Given the description of an element on the screen output the (x, y) to click on. 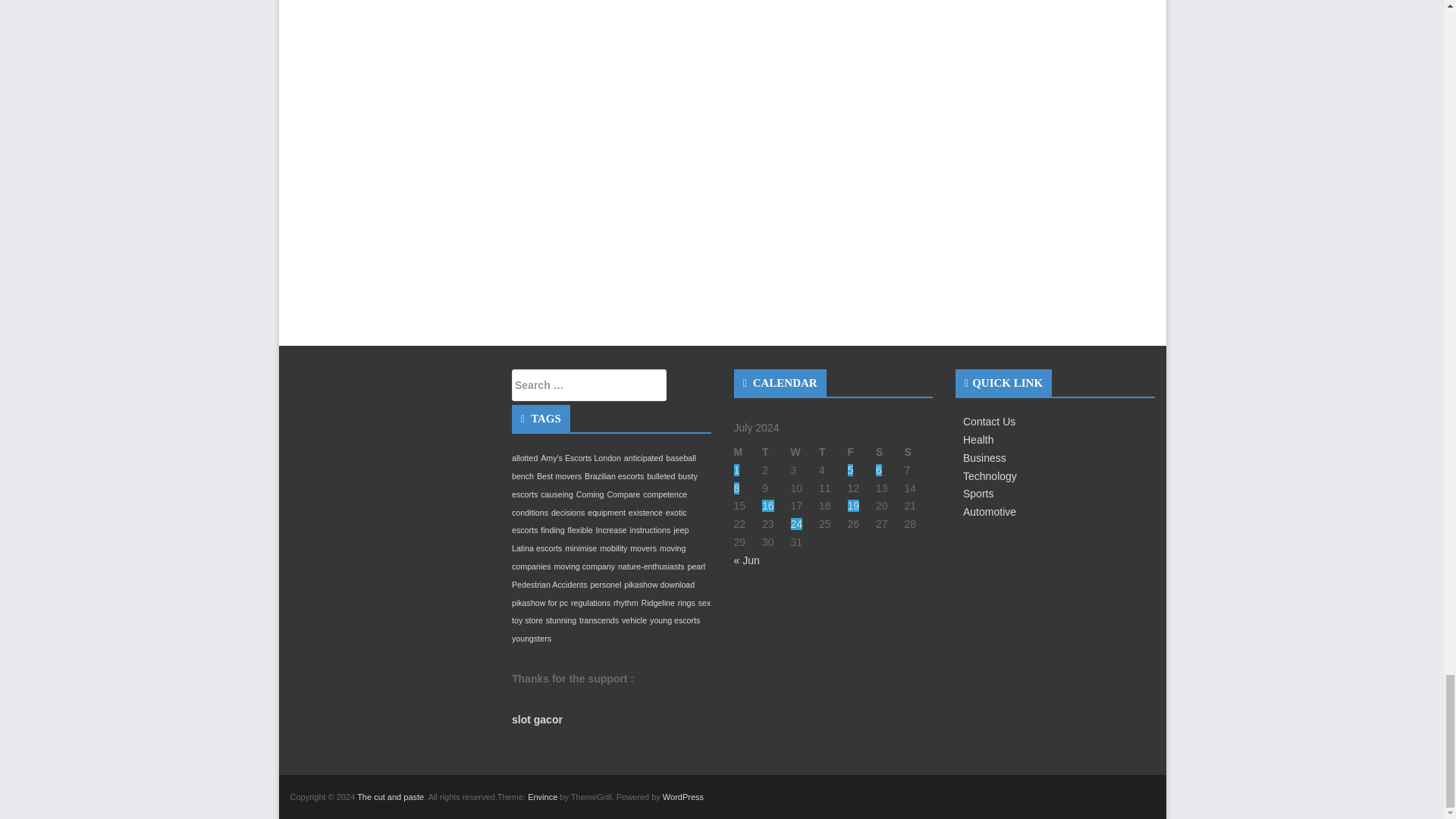
Sunday (918, 452)
Thursday (832, 452)
Saturday (890, 452)
Friday (861, 452)
Monday (747, 452)
Tuesday (775, 452)
Wednesday (804, 452)
